Given the description of an element on the screen output the (x, y) to click on. 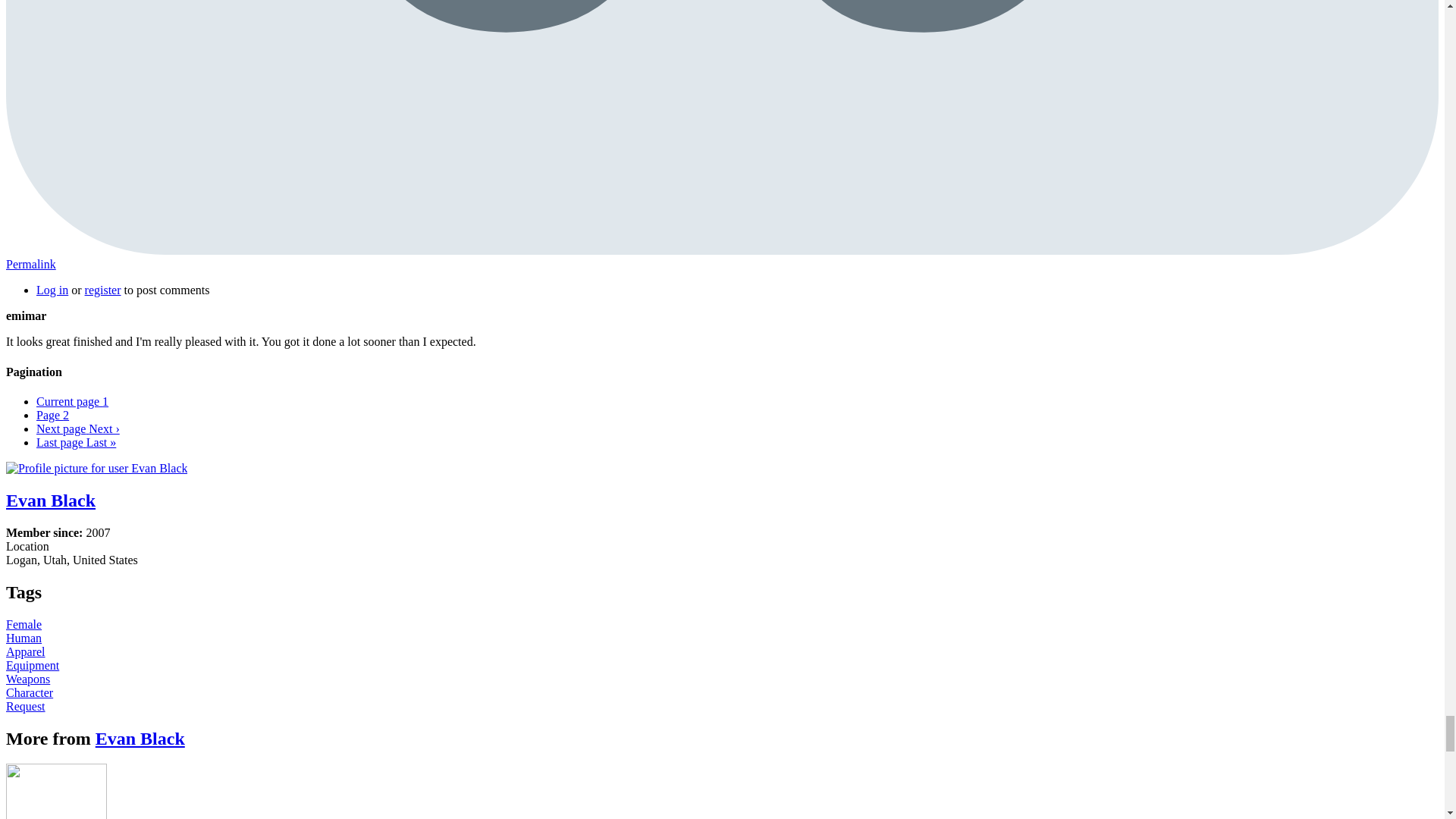
Current page (71, 400)
Go to page 2 (52, 414)
Go to next page (77, 428)
View user profile. (140, 737)
Go to last page (76, 441)
